Given the description of an element on the screen output the (x, y) to click on. 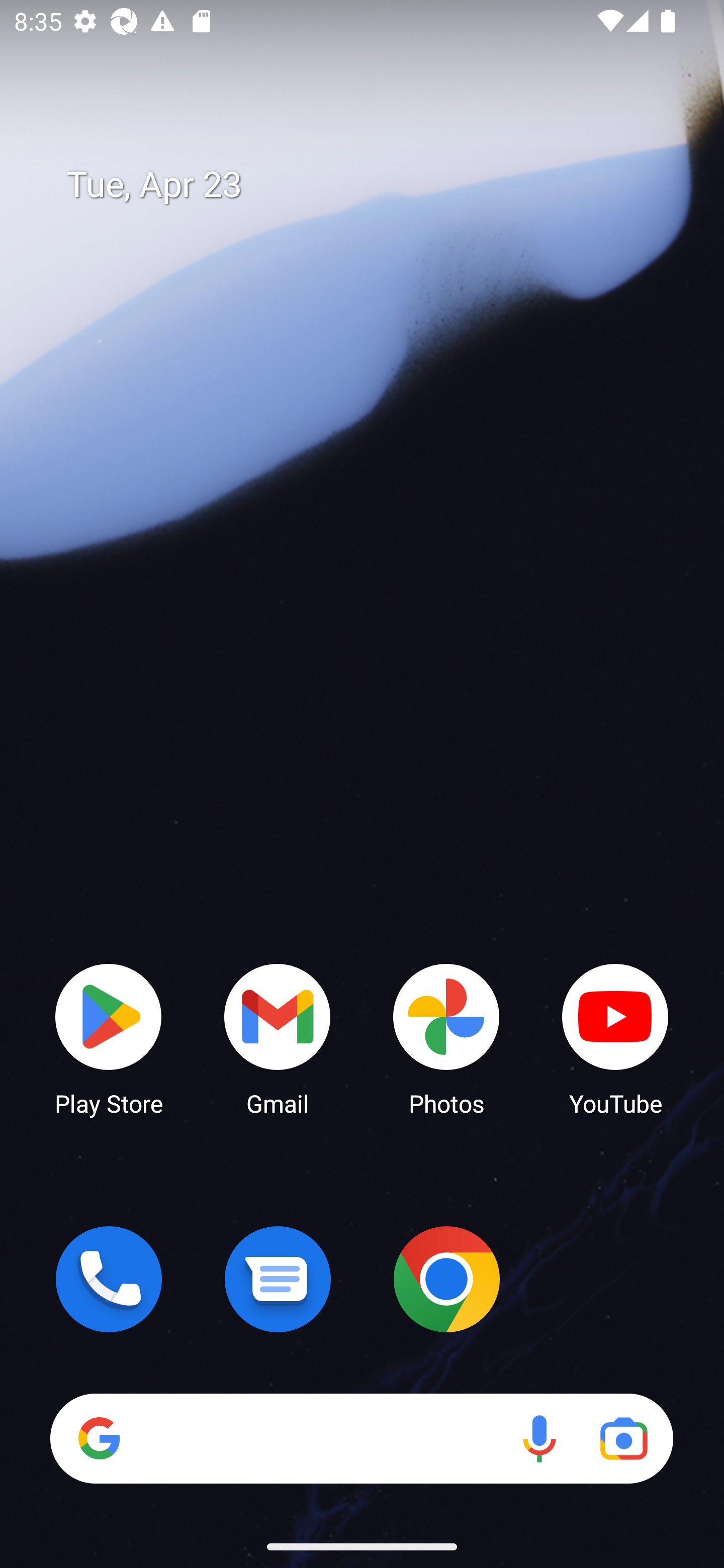
Tue, Apr 23 (375, 184)
Play Store (108, 1038)
Gmail (277, 1038)
Photos (445, 1038)
YouTube (615, 1038)
Phone (108, 1279)
Messages (277, 1279)
Chrome (446, 1279)
Search Voice search Google Lens (361, 1438)
Voice search (539, 1438)
Google Lens (623, 1438)
